Given the description of an element on the screen output the (x, y) to click on. 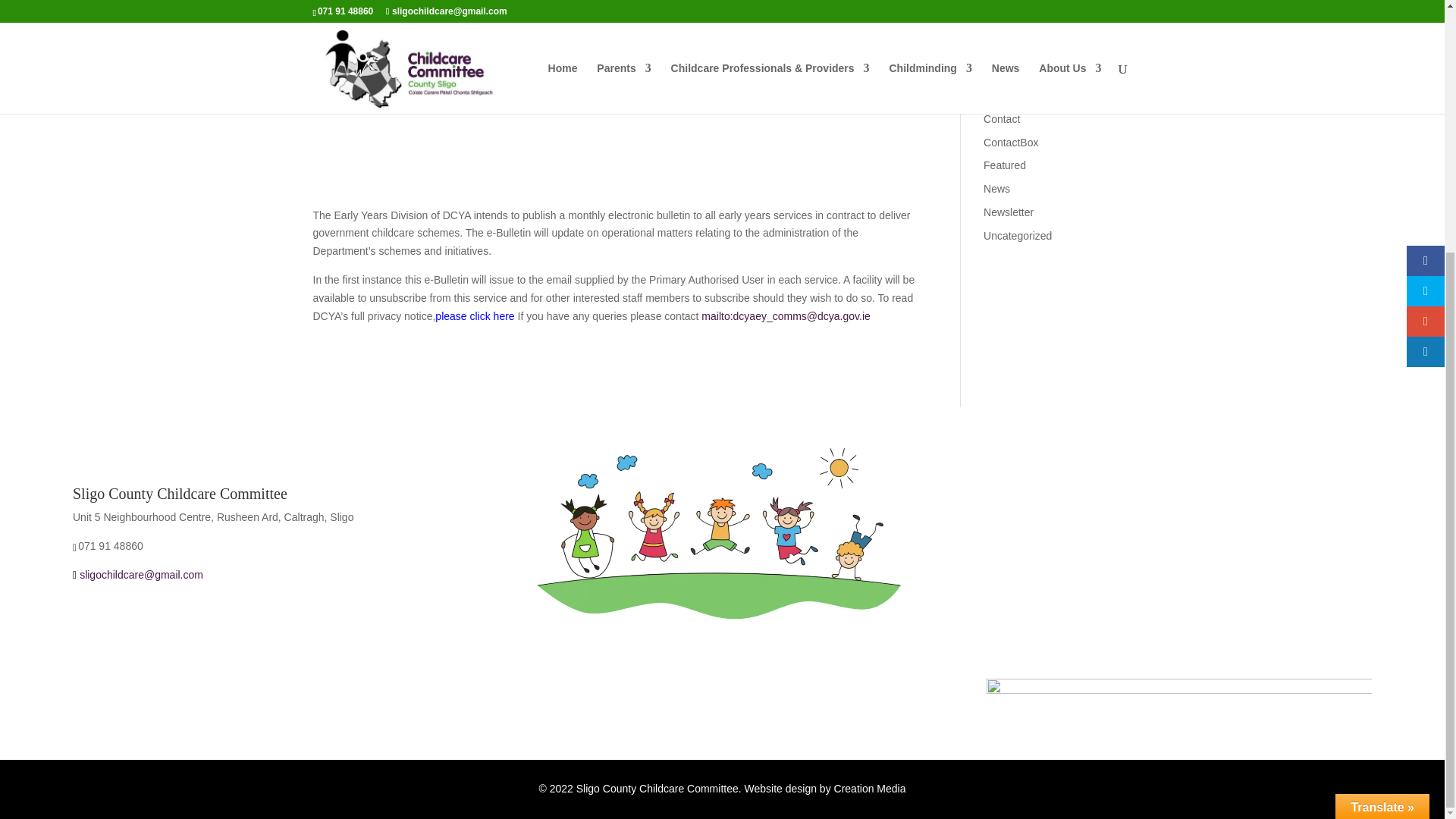
please click here (474, 316)
footer-logos-new (1179, 701)
footer-graphic (721, 532)
